Given the description of an element on the screen output the (x, y) to click on. 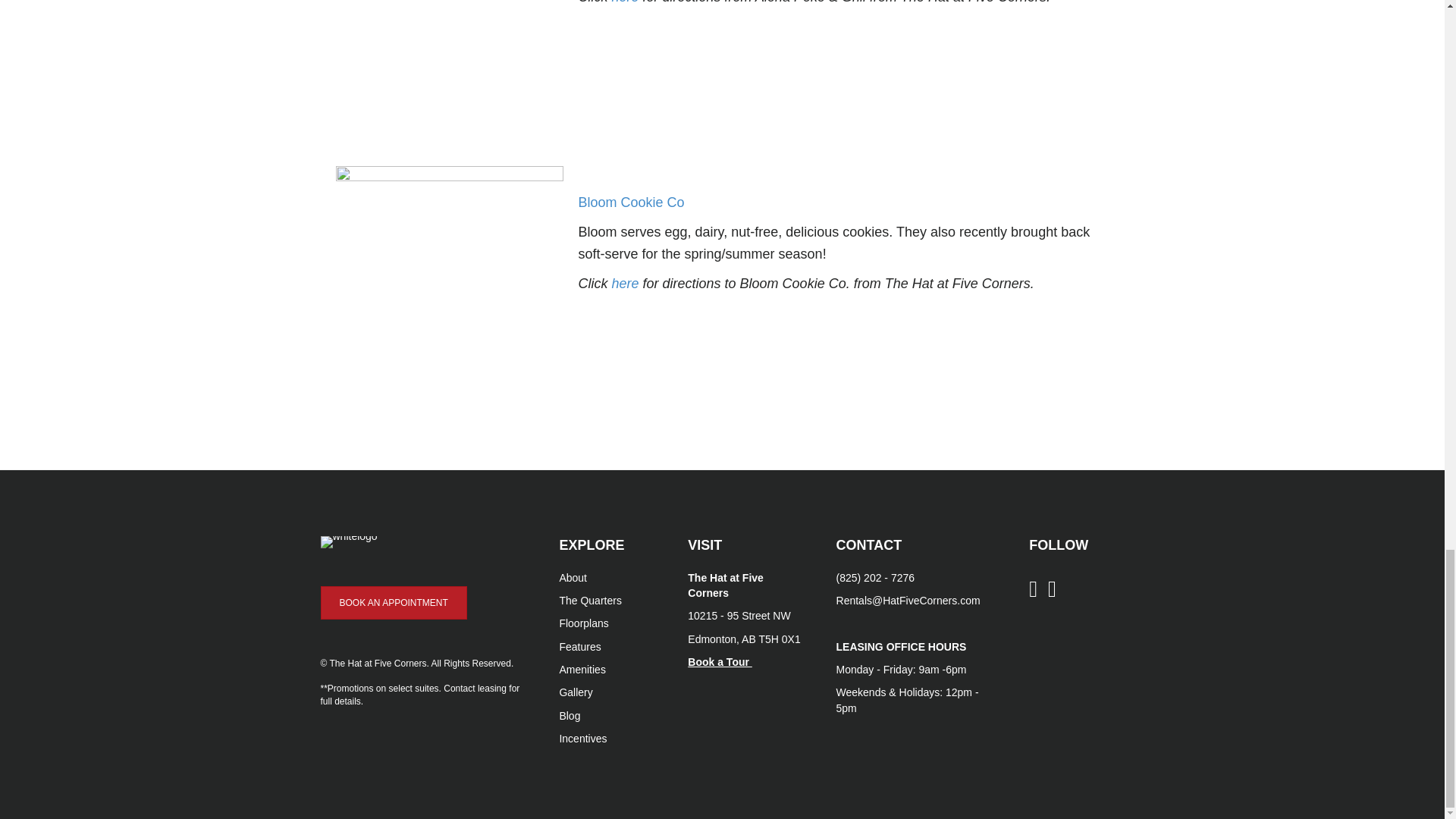
whitelogo (348, 541)
BOOK AN APPOINTMENT (392, 602)
The Quarters (590, 600)
here (625, 2)
Floorplans (583, 623)
Bloom Cookie Co (631, 201)
here (625, 283)
About (572, 577)
